Given the description of an element on the screen output the (x, y) to click on. 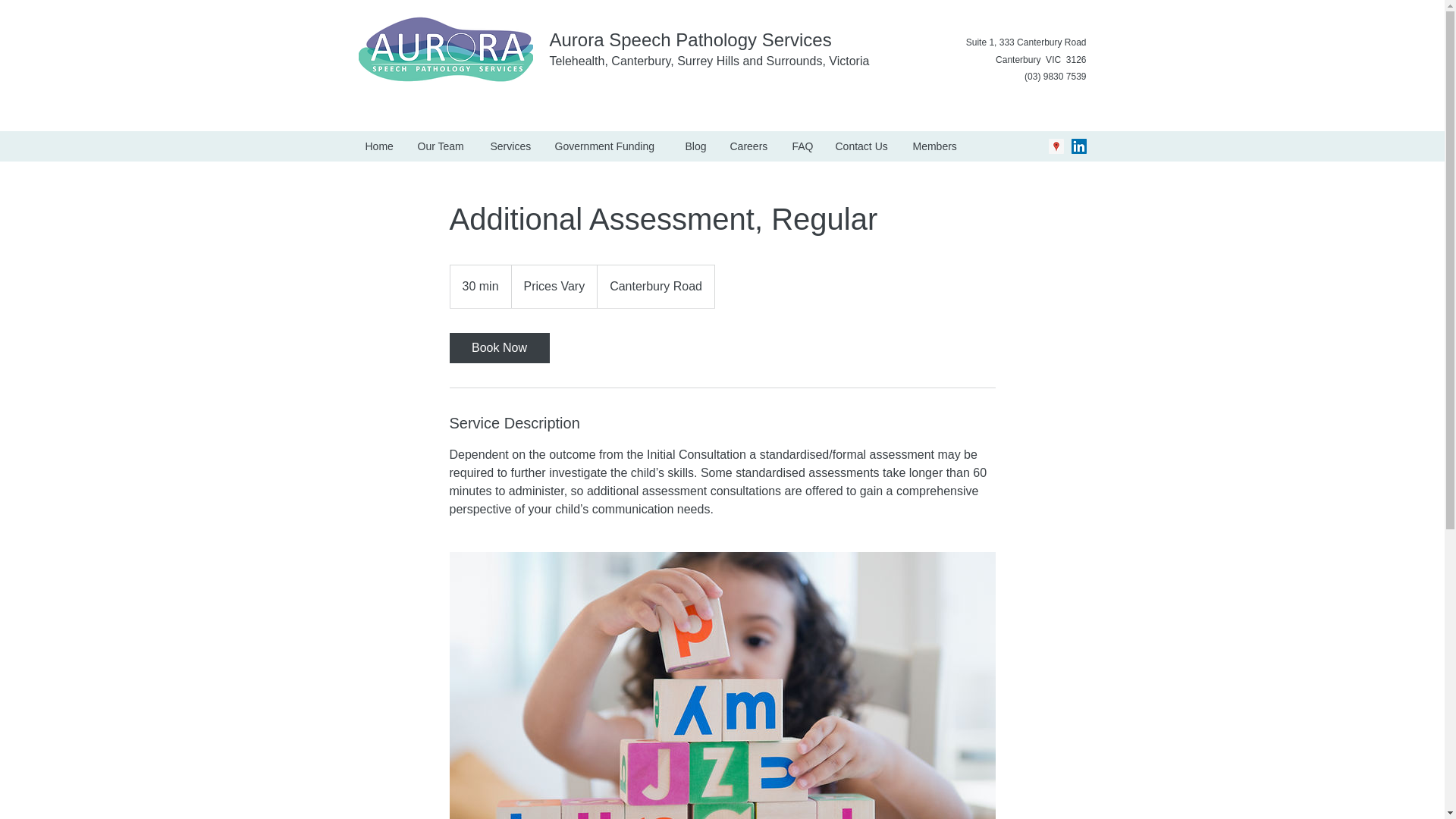
Home (379, 146)
Our Team (442, 146)
Services (511, 146)
Careers (749, 146)
FAQ (802, 146)
Contact Us (862, 146)
Members (936, 146)
Blog (694, 146)
Book Now (498, 347)
Government Funding (607, 146)
